Given the description of an element on the screen output the (x, y) to click on. 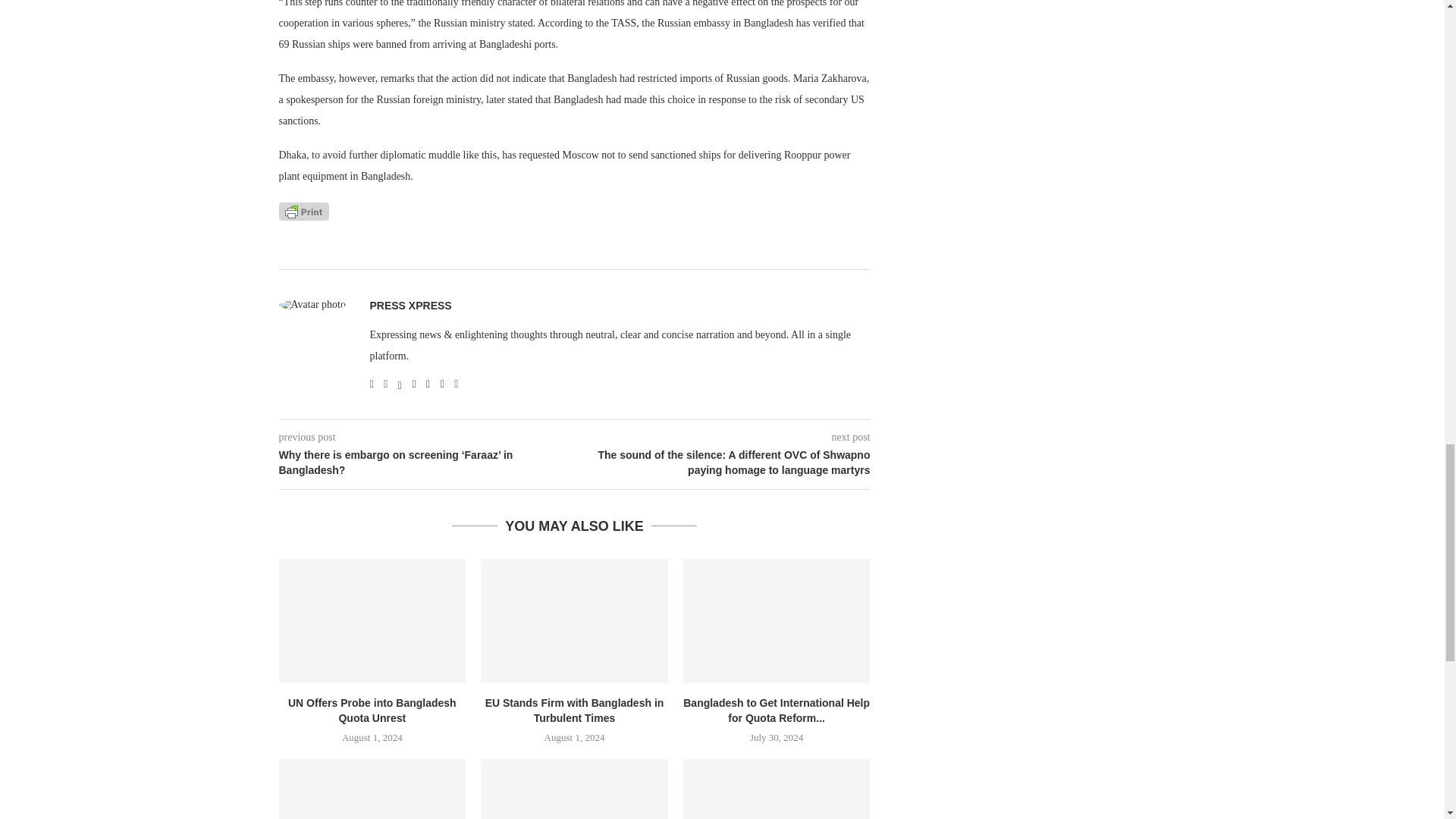
Author Press Xpress (410, 305)
EU Stands Firm with Bangladesh in Turbulent Times (574, 620)
Breaking Protocol: The Haas Chronicles! (372, 789)
UN Offers Probe into Bangladesh Quota Unrest (372, 620)
